Given the description of an element on the screen output the (x, y) to click on. 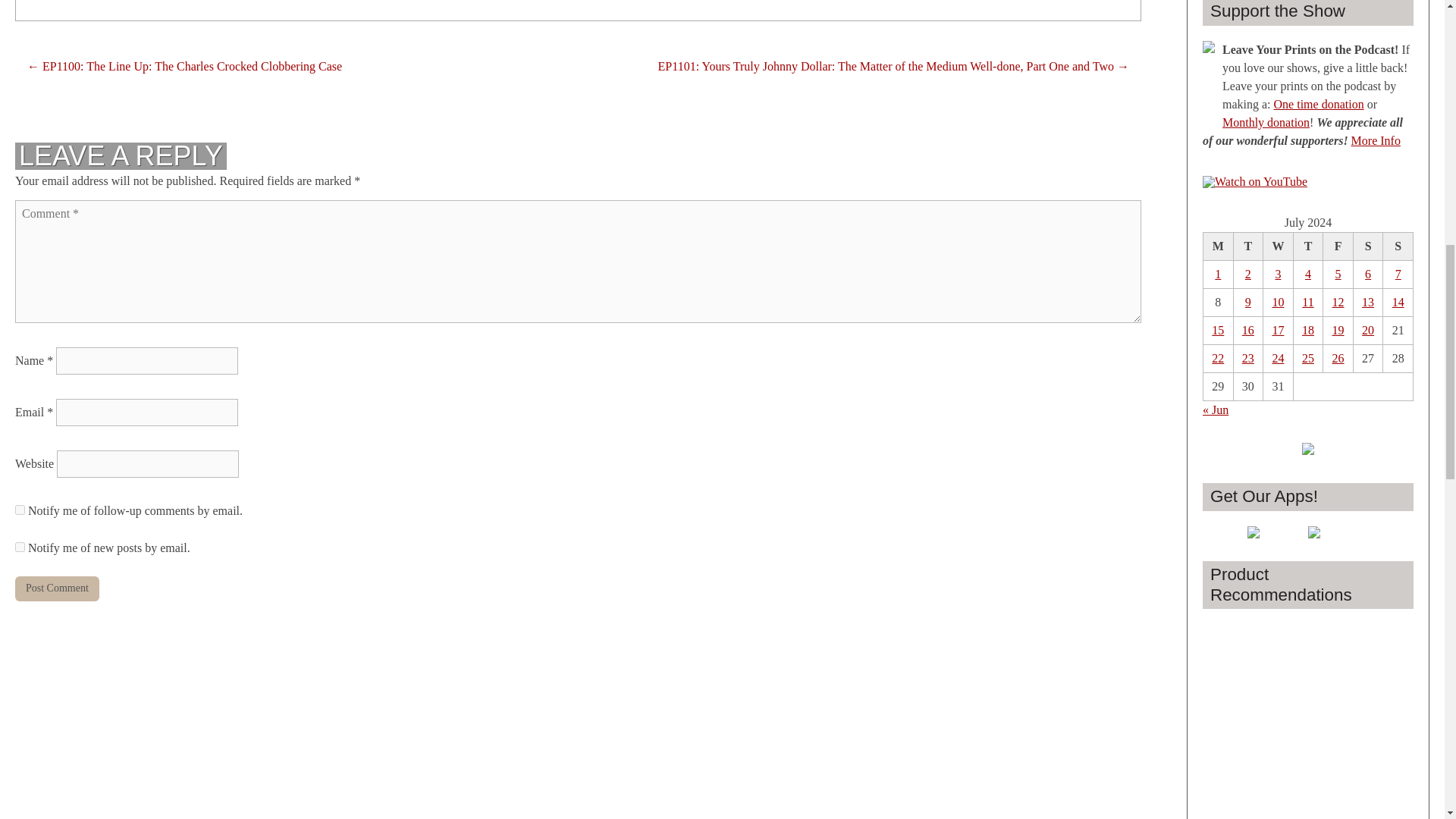
subscribe (19, 547)
Post Comment (56, 588)
subscribe (19, 510)
